Given the description of an element on the screen output the (x, y) to click on. 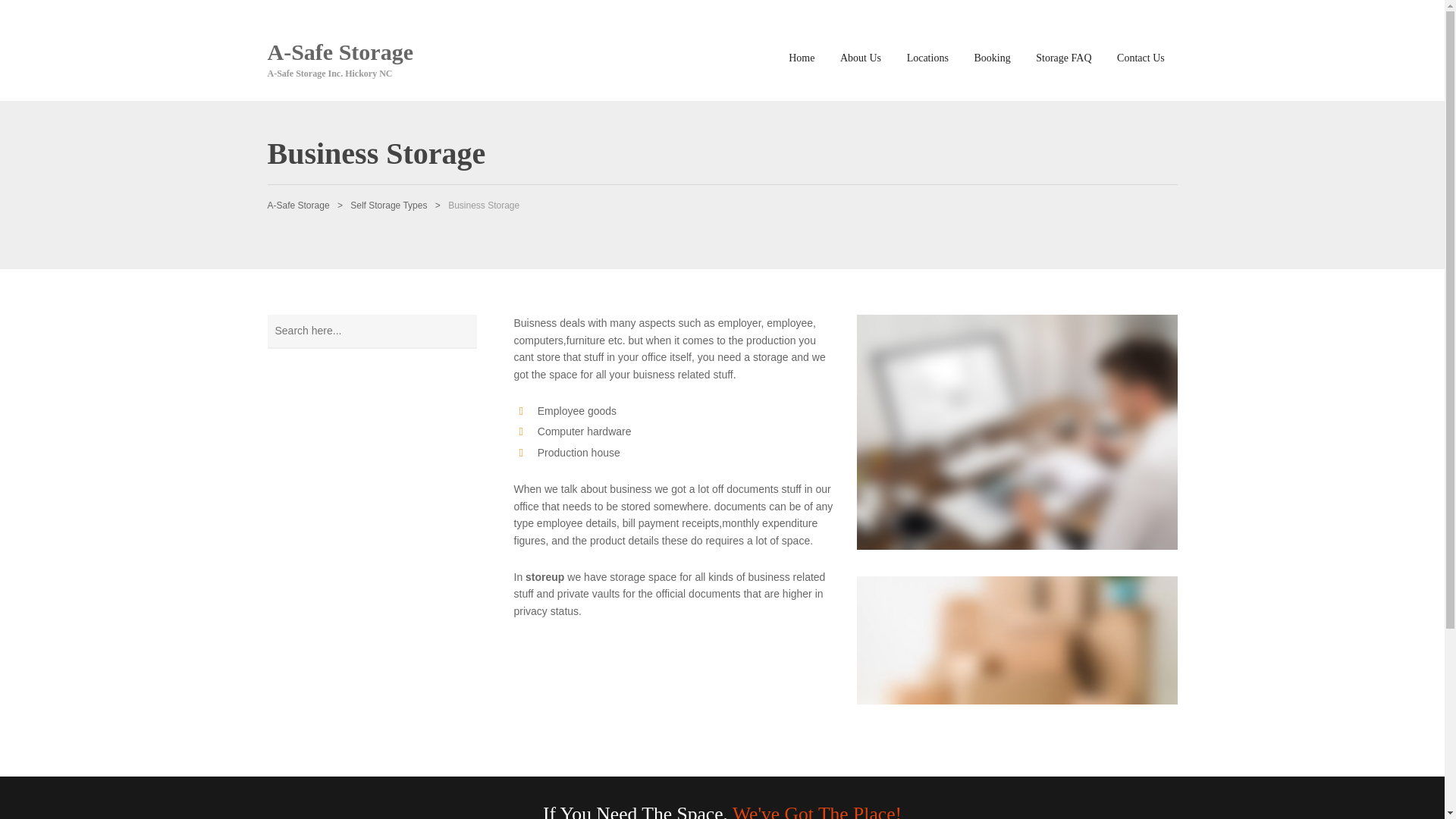
Storage FAQ (1063, 59)
Go to A-Safe Storage. (297, 204)
Self Storage Types (388, 204)
Contact Us (1139, 59)
A-Safe Storage (339, 51)
A-Safe Storage (339, 51)
About Us (860, 59)
boxes (1017, 640)
Go to Self Storage Types. (388, 204)
Locations (926, 59)
monthly-rental (1017, 431)
A-Safe Storage (297, 204)
Booking (991, 59)
